Given the description of an element on the screen output the (x, y) to click on. 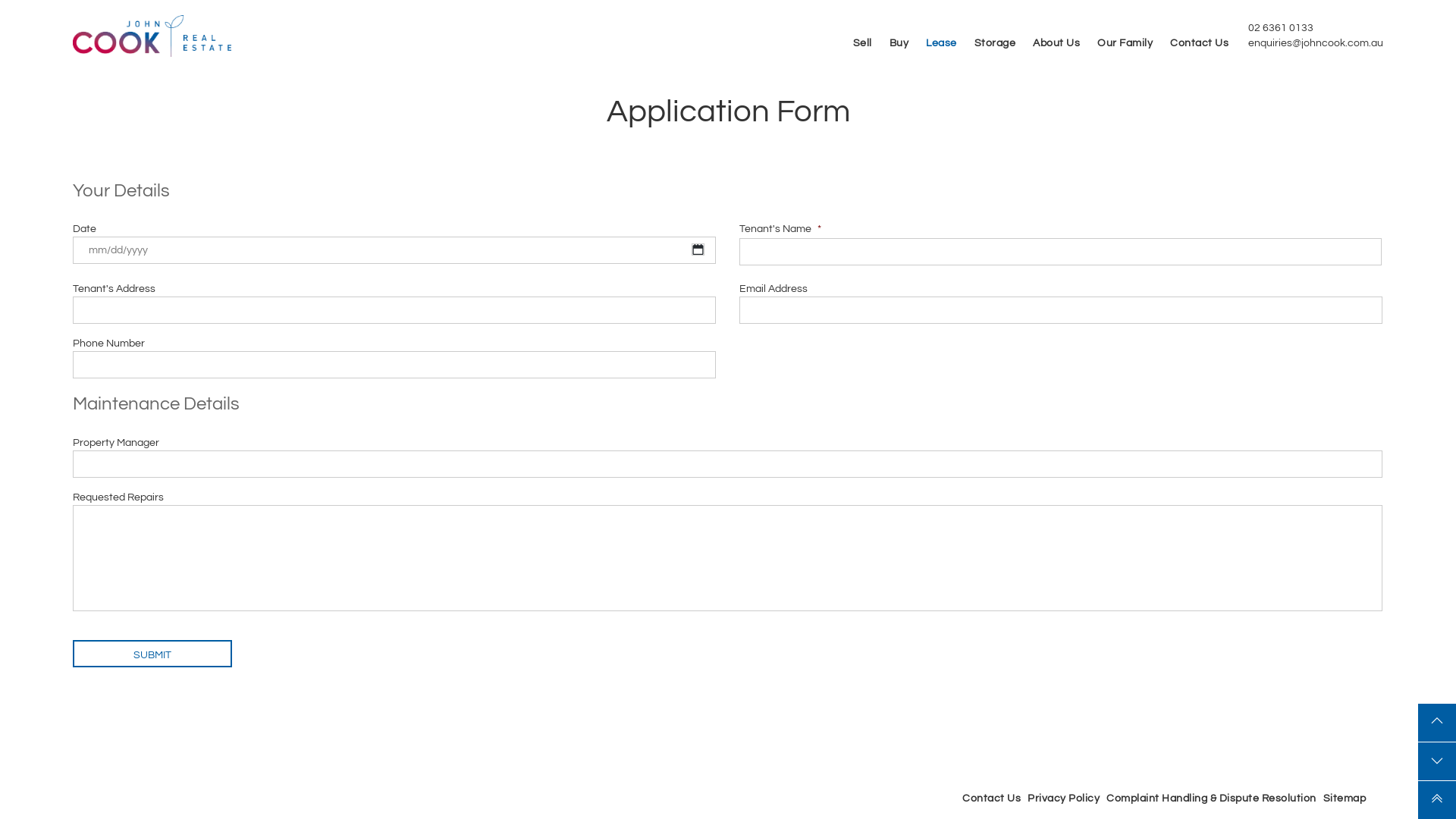
Sell Element type: text (861, 42)
Sitemap Element type: text (1344, 798)
Contact Us Element type: text (1199, 42)
Lease Element type: text (941, 42)
enquiries@johncook.com.au Element type: text (1315, 42)
02 6361 0133 Element type: text (1280, 27)
Contact Us Element type: text (991, 798)
Select date Element type: hover (697, 249)
Storage Element type: text (994, 42)
Complaint Handling & Dispute Resolution Element type: text (1211, 798)
Submit Element type: text (152, 653)
Our Family Element type: text (1124, 42)
Buy Element type: text (898, 42)
About Us Element type: text (1056, 42)
Privacy Policy Element type: text (1063, 798)
